Given the description of an element on the screen output the (x, y) to click on. 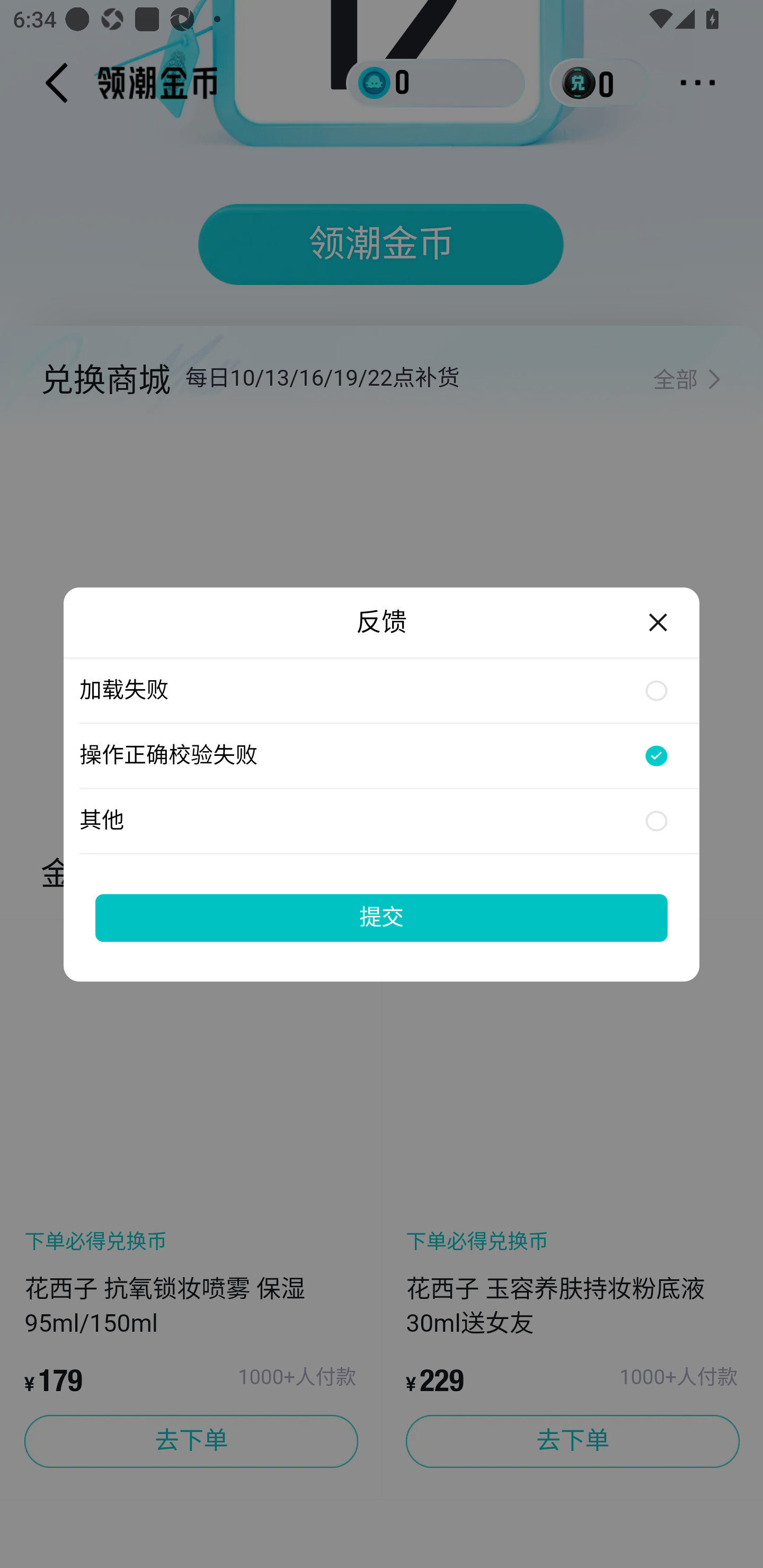
提交 (381, 917)
